Given the description of an element on the screen output the (x, y) to click on. 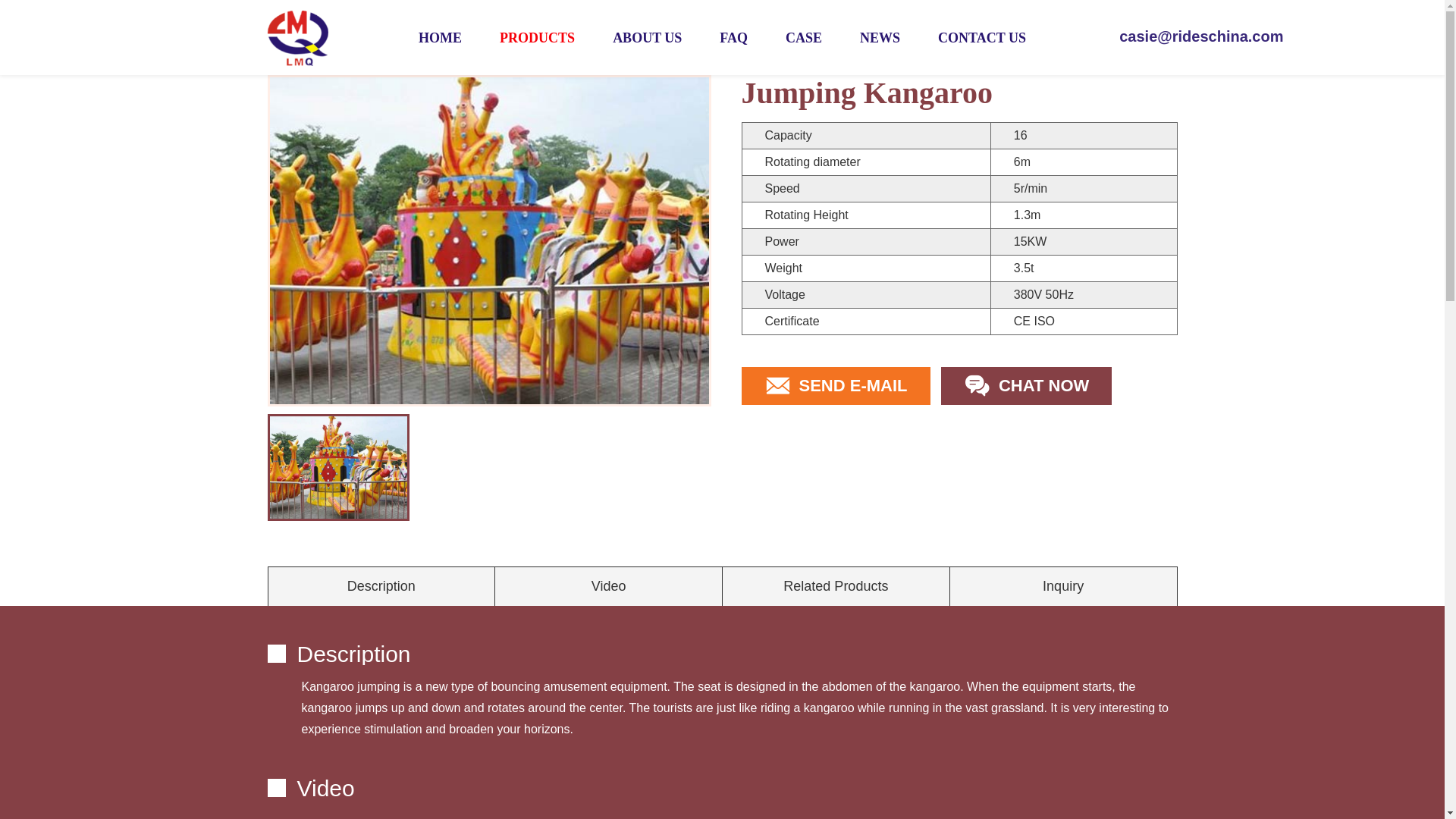
Description (381, 586)
ABOUT US (647, 38)
CONTACT US (981, 38)
Related Products (836, 586)
Zhengzhou Limeiqi Amusement Equipment Co.,Ltd. (296, 36)
PRODUCTS (537, 38)
NEWS (879, 38)
Inquiry (1063, 586)
Video (608, 586)
CHAT NOW (1026, 385)
